Given the description of an element on the screen output the (x, y) to click on. 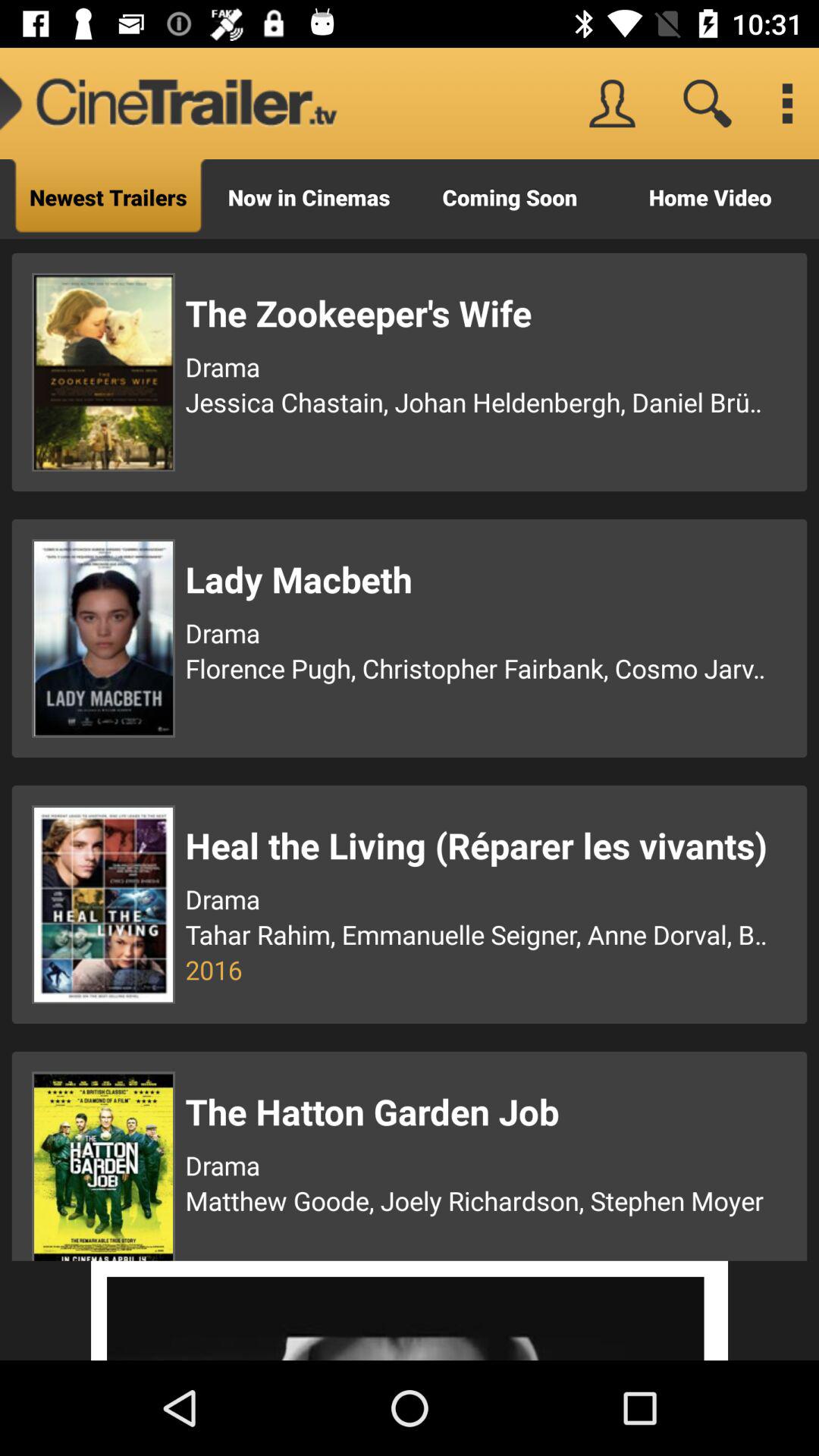
options (787, 103)
